Given the description of an element on the screen output the (x, y) to click on. 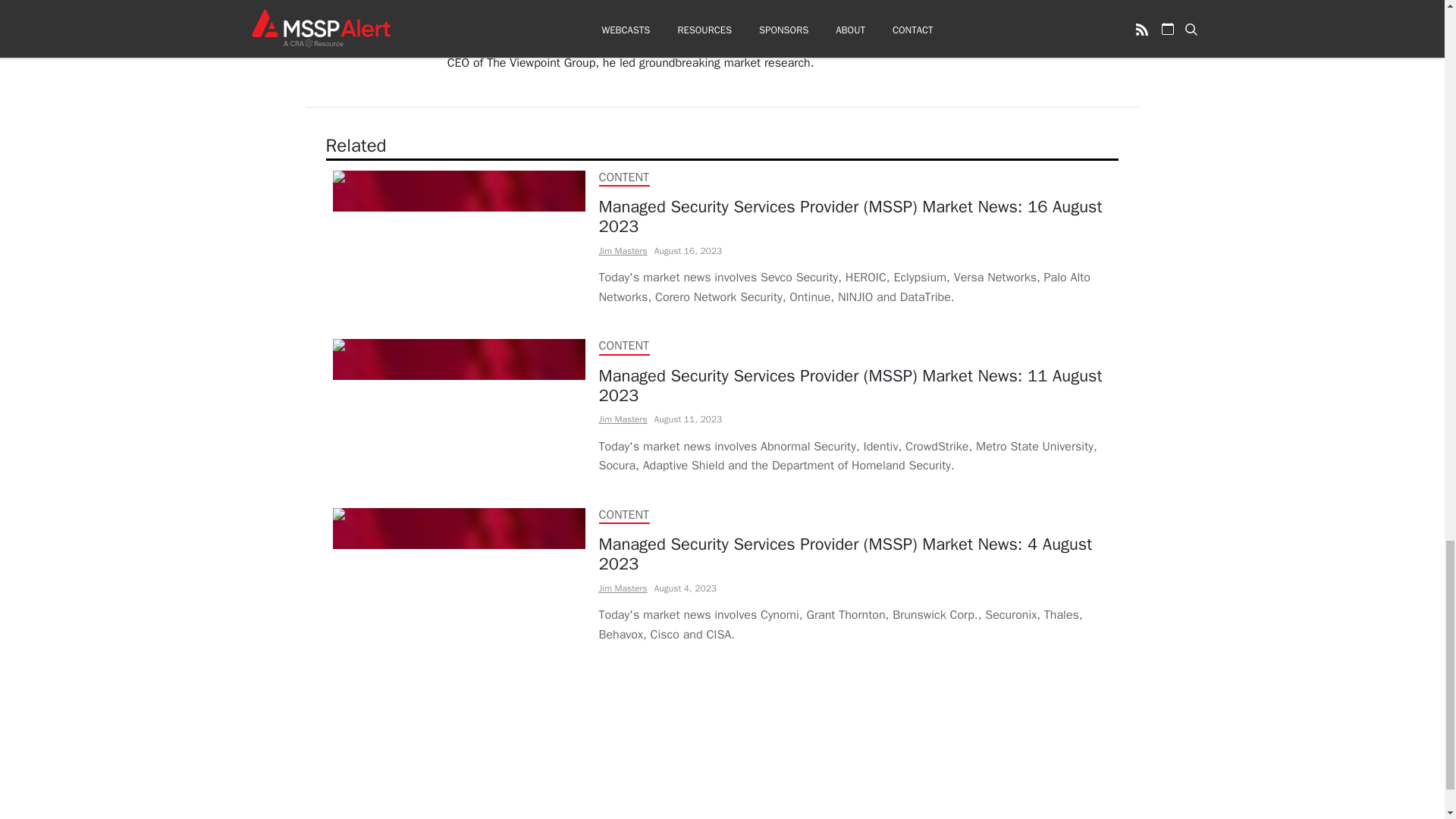
CONTENT (623, 514)
Jim Masters (622, 588)
CONTENT (623, 177)
D. Howard Kass (489, 6)
Jim Masters (622, 250)
CONTENT (623, 345)
Jim Masters (622, 419)
